Given the description of an element on the screen output the (x, y) to click on. 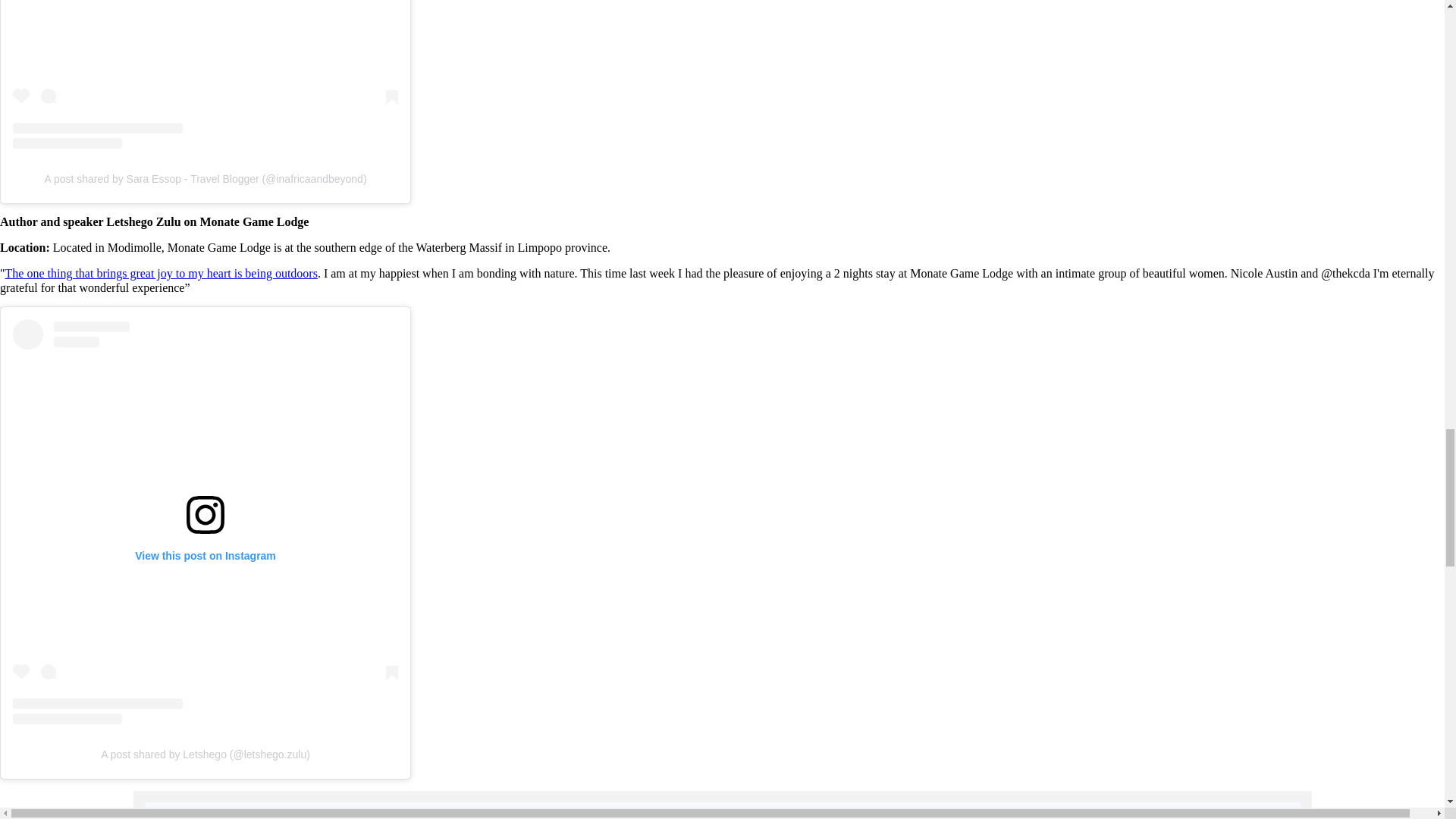
View this post on Instagram (205, 74)
